Given the description of an element on the screen output the (x, y) to click on. 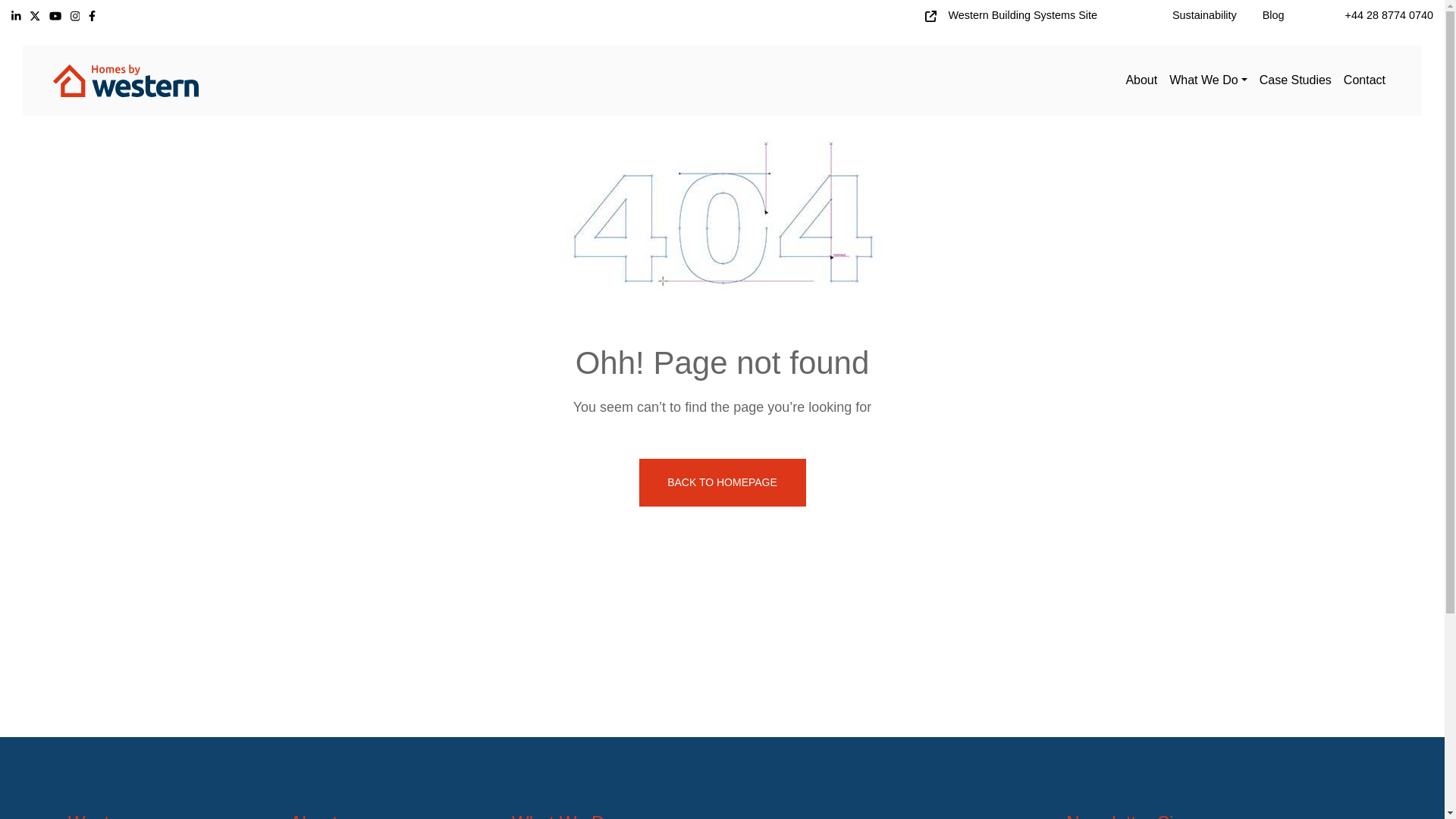
Sustainability (1204, 15)
BACK TO HOMEPAGE (722, 482)
Blog (1273, 15)
Case Studies (1295, 80)
What We Do (1207, 80)
About (1141, 80)
Contact (1364, 80)
Western Building Systems Site (1022, 15)
